Given the description of an element on the screen output the (x, y) to click on. 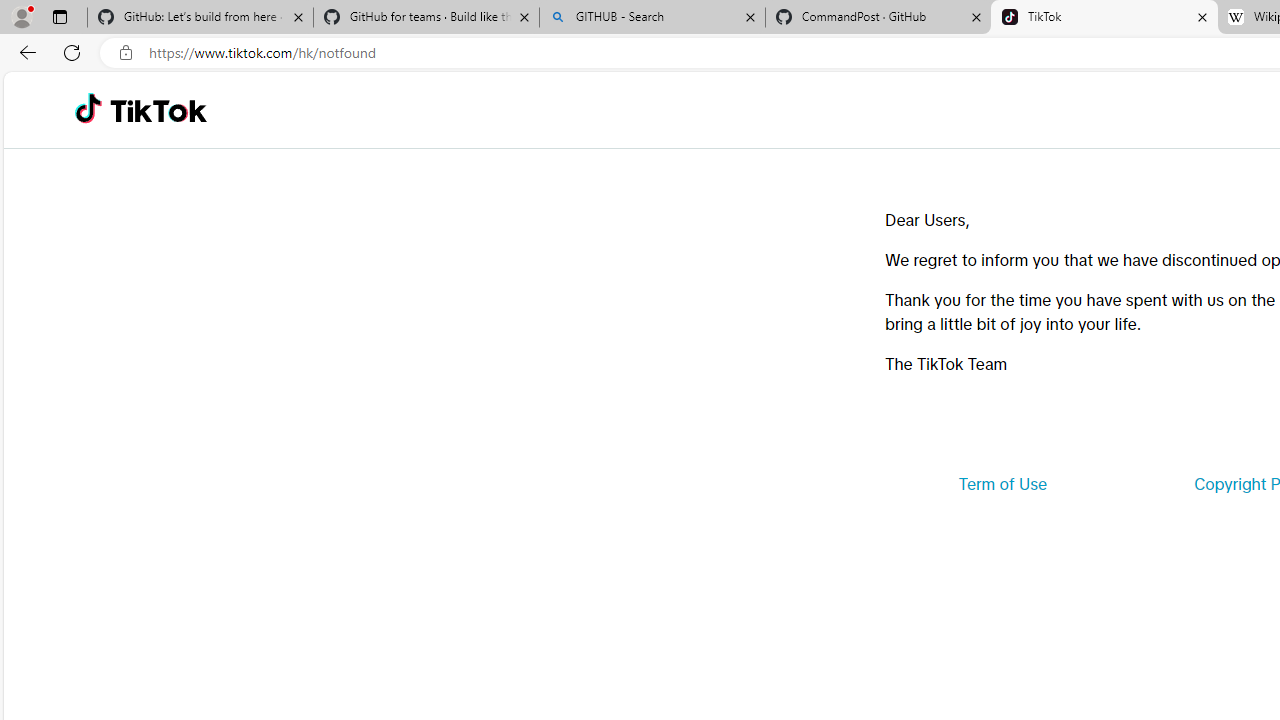
GITHUB - Search (652, 17)
TikTok (158, 110)
Term of Use (1002, 484)
TikTok (1104, 17)
